Given the description of an element on the screen output the (x, y) to click on. 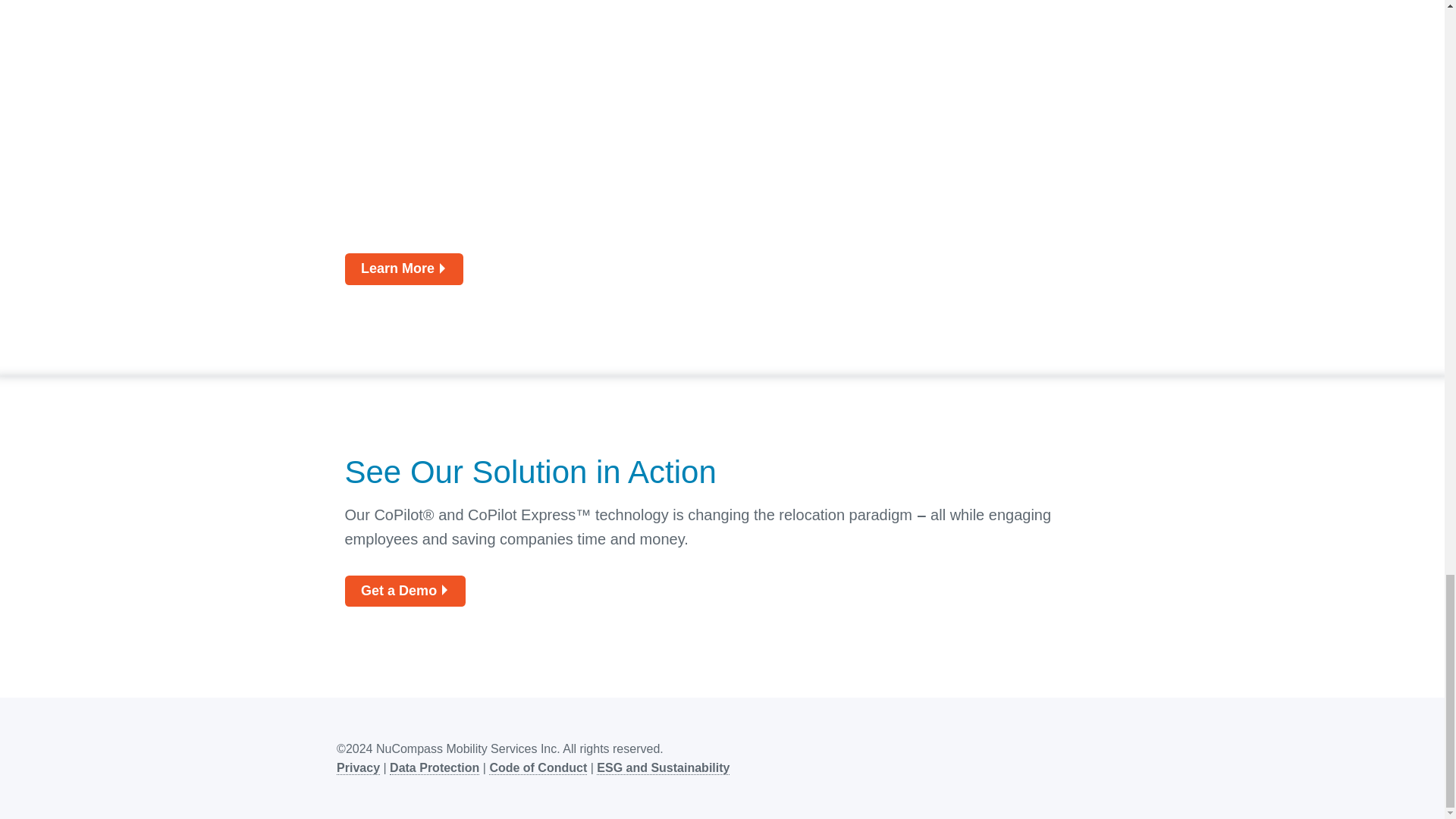
Privacy (358, 767)
Get a Demo (403, 590)
Data Protection (434, 767)
ESG and Sustainability (662, 767)
Learn More (403, 268)
Code of Conduct (537, 767)
